Given the description of an element on the screen output the (x, y) to click on. 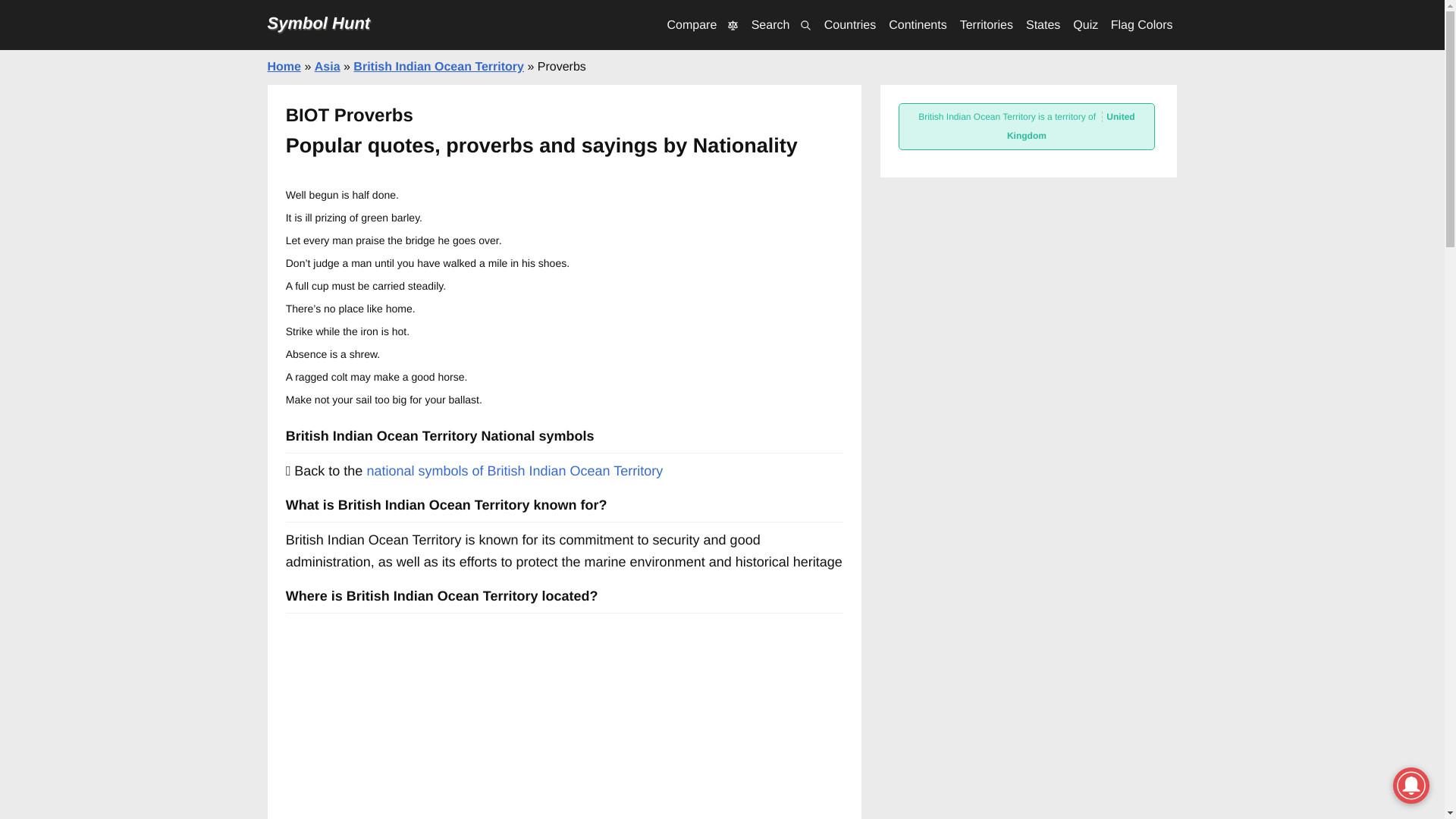
States (1043, 24)
Territories (986, 24)
Symbol Hunt (317, 23)
national symbols of British Indian Ocean Territory (514, 471)
Countries (849, 24)
Asia (327, 66)
National symbols of British Indian Ocean Territory  (514, 471)
Search symbol hunt (780, 24)
Compare   (702, 24)
Symbol Hunt (317, 23)
Search   (780, 24)
Compare Countries (702, 24)
Continents (917, 24)
Home (282, 66)
Flag Colors (1141, 24)
